Given the description of an element on the screen output the (x, y) to click on. 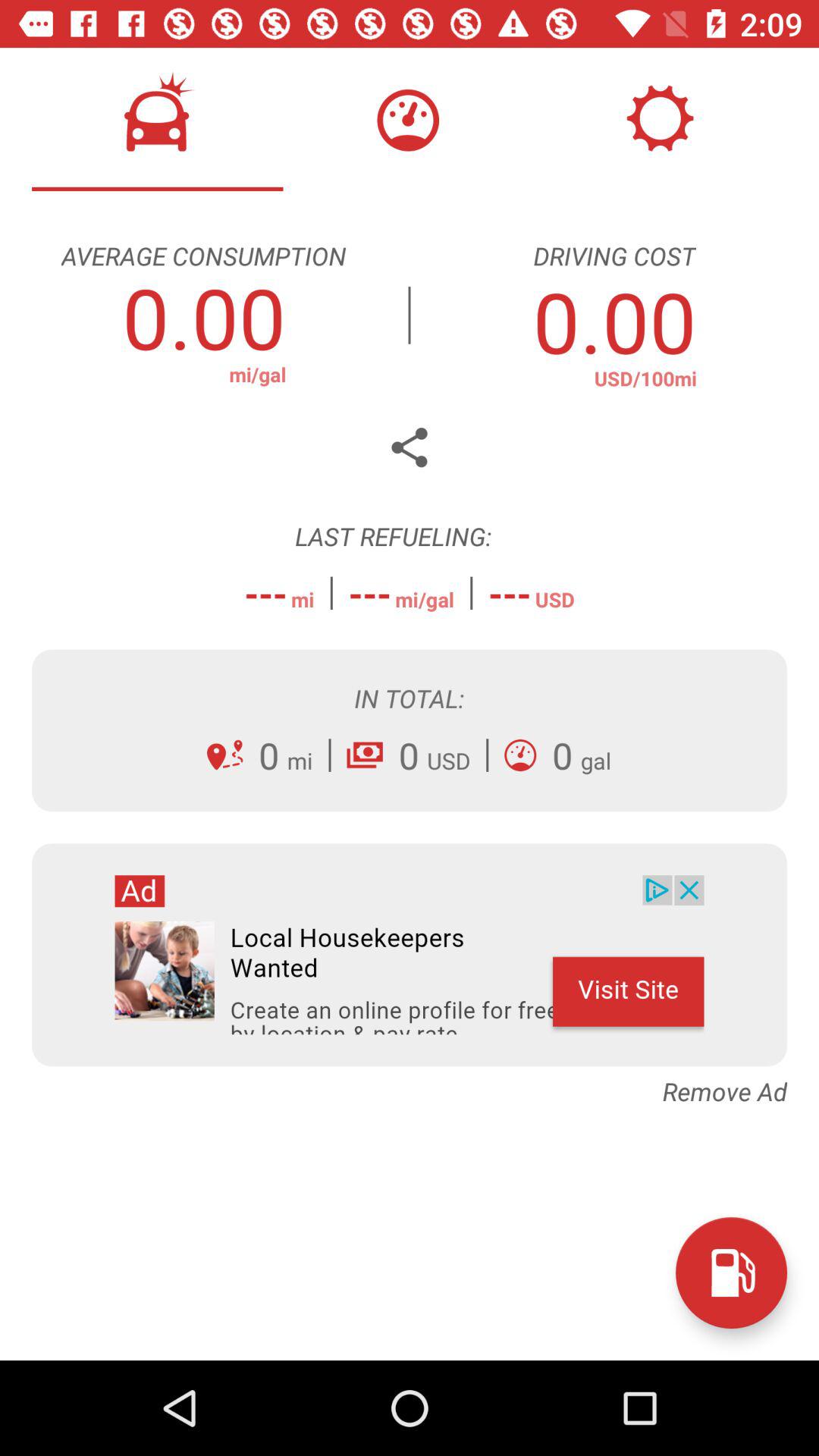
share to site (409, 447)
